Given the description of an element on the screen output the (x, y) to click on. 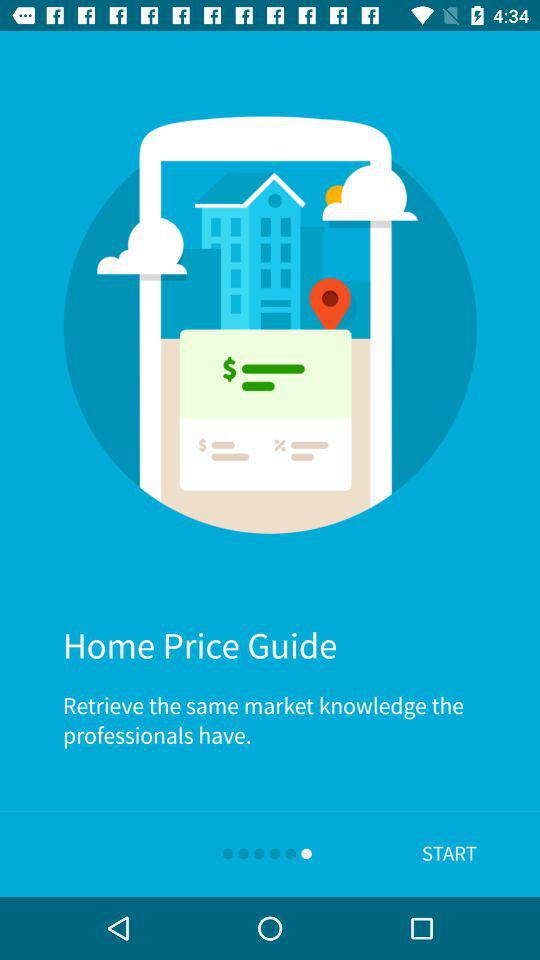
choose the icon below retrieve the same item (449, 853)
